Given the description of an element on the screen output the (x, y) to click on. 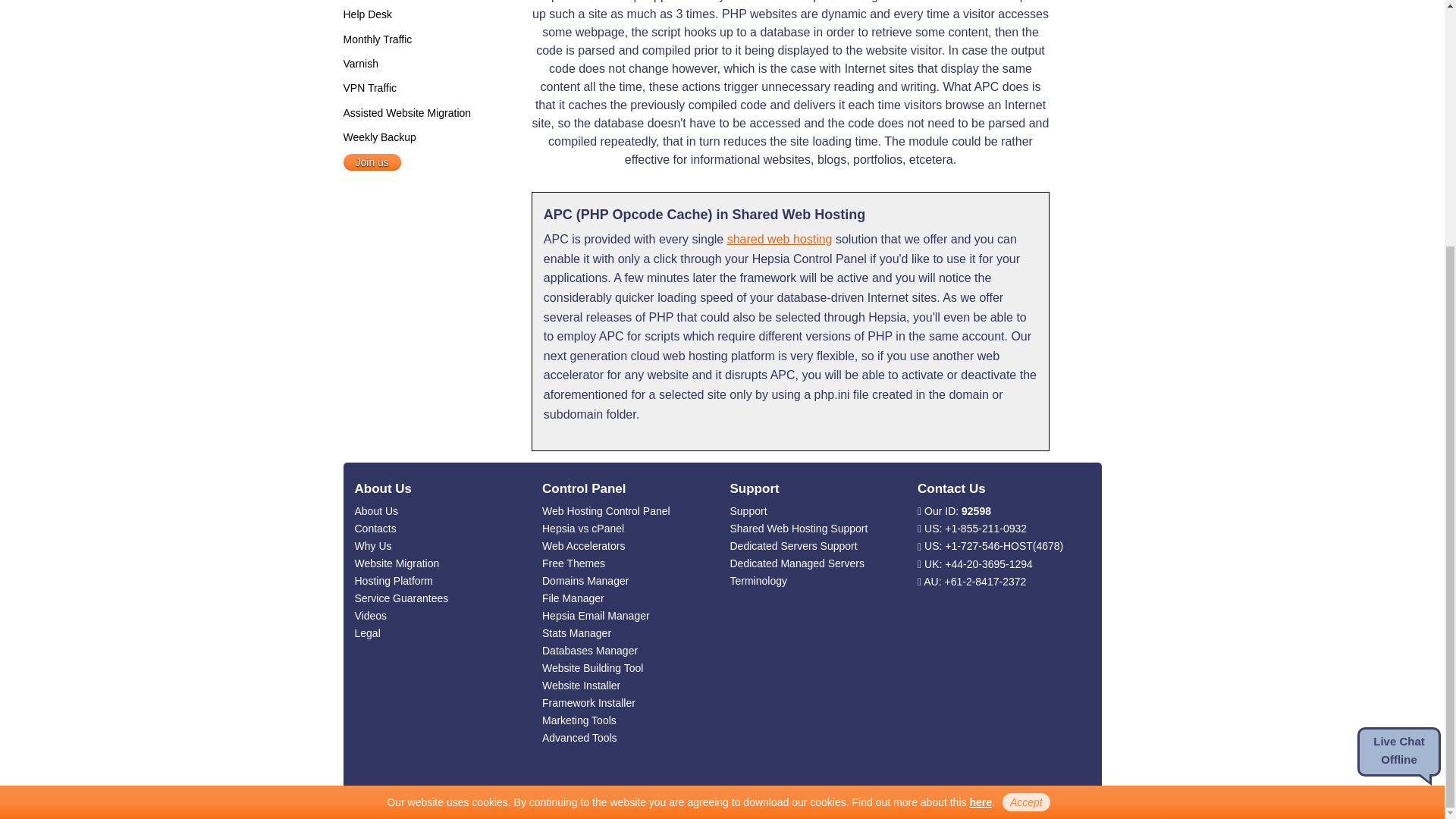
Join us (371, 161)
Live chat offline (1398, 407)
Monthly Traffic (377, 39)
Assisted Website Migration (406, 112)
Help Desk (366, 14)
VPN Traffic (369, 87)
Weekly Backup (378, 137)
Varnish (359, 63)
Privacy Policy (980, 458)
shared web hosting (779, 238)
